Given the description of an element on the screen output the (x, y) to click on. 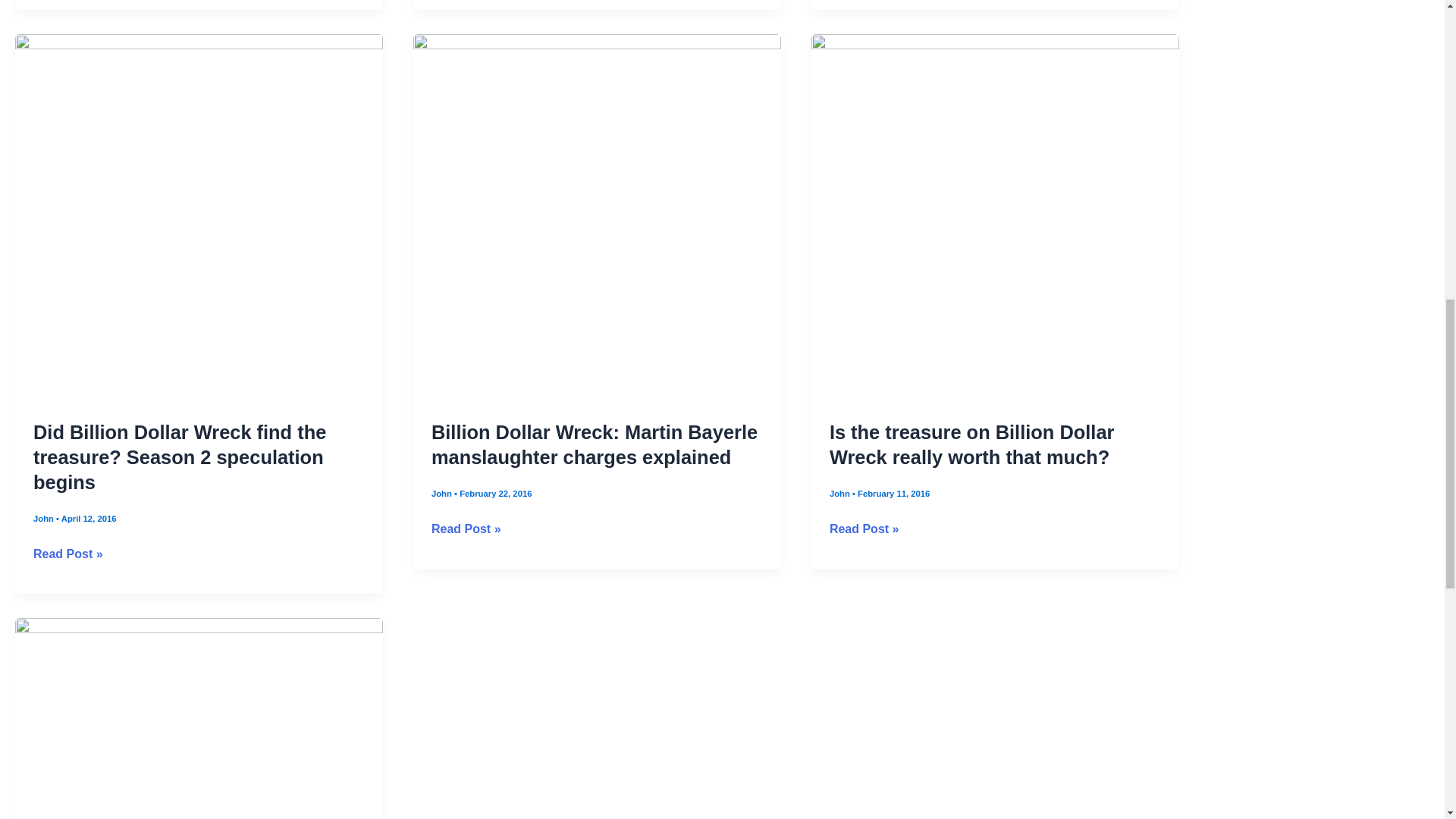
View all posts by John (442, 524)
View all posts by John (44, 550)
View all posts by John (840, 524)
